Given the description of an element on the screen output the (x, y) to click on. 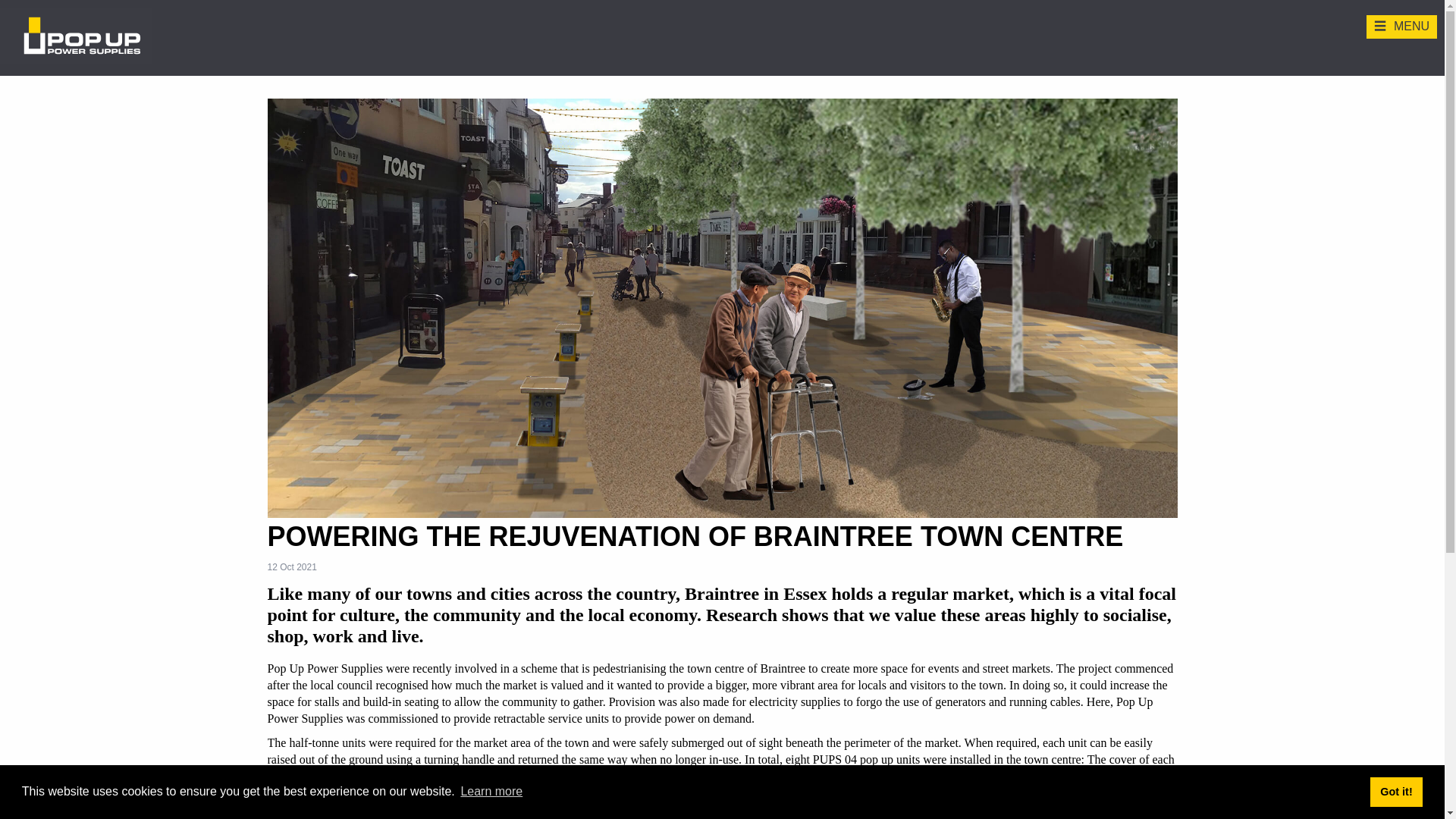
Learn more (491, 791)
Got it! (1396, 791)
MENU (1402, 26)
